Given the description of an element on the screen output the (x, y) to click on. 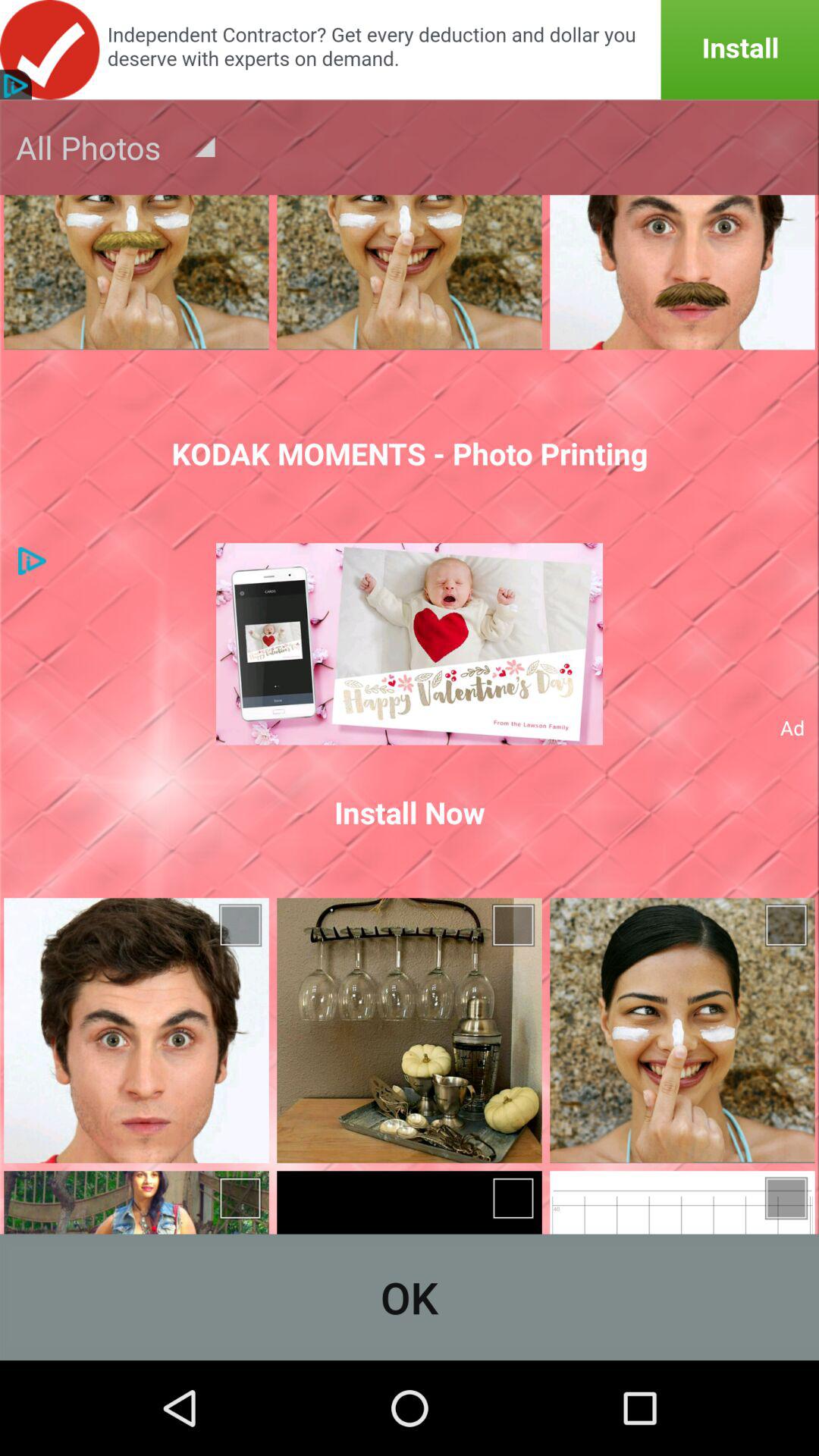
choose the icon below the kodak moments photo icon (409, 644)
